Given the description of an element on the screen output the (x, y) to click on. 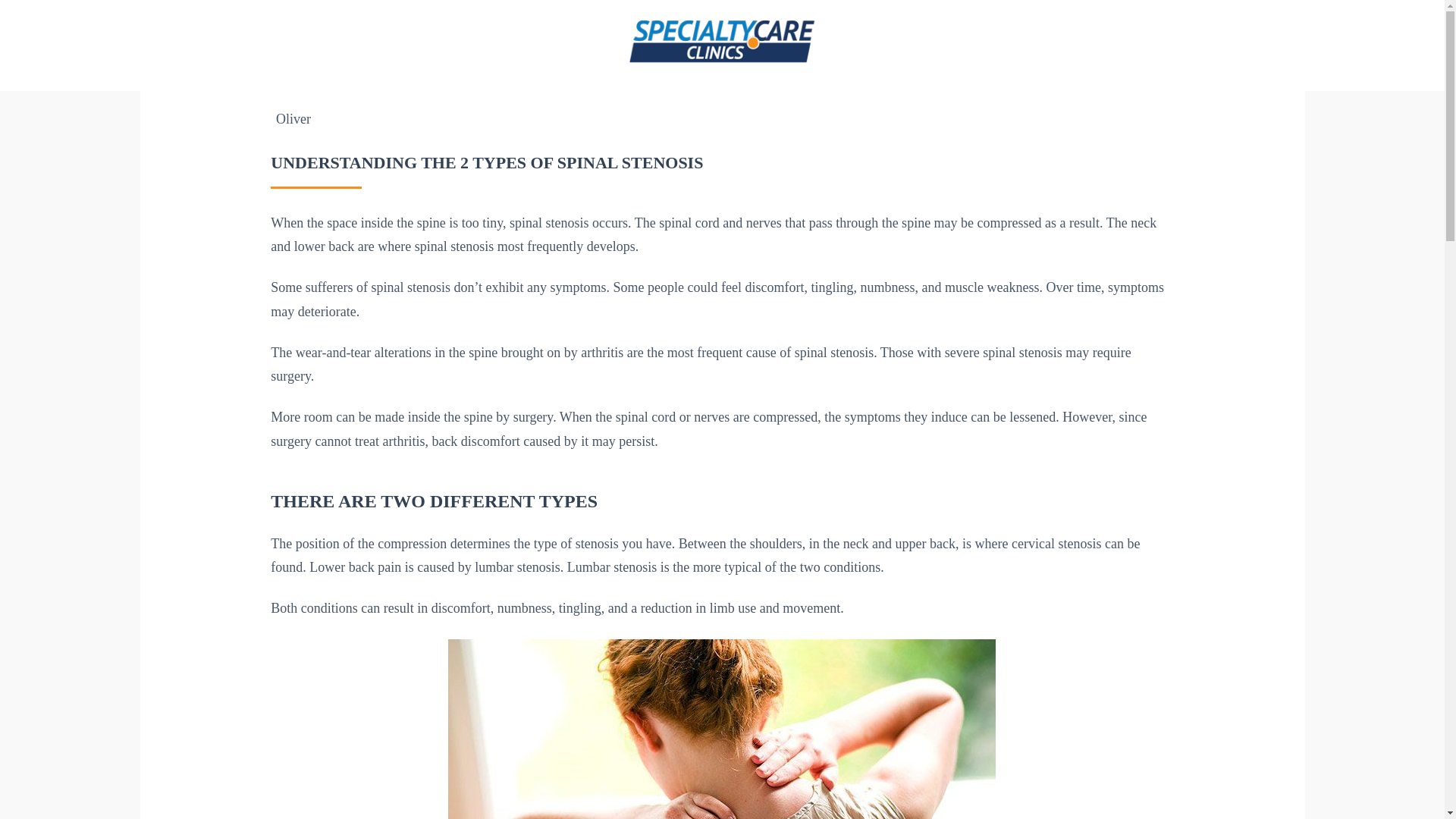
Oliver (293, 118)
